Given the description of an element on the screen output the (x, y) to click on. 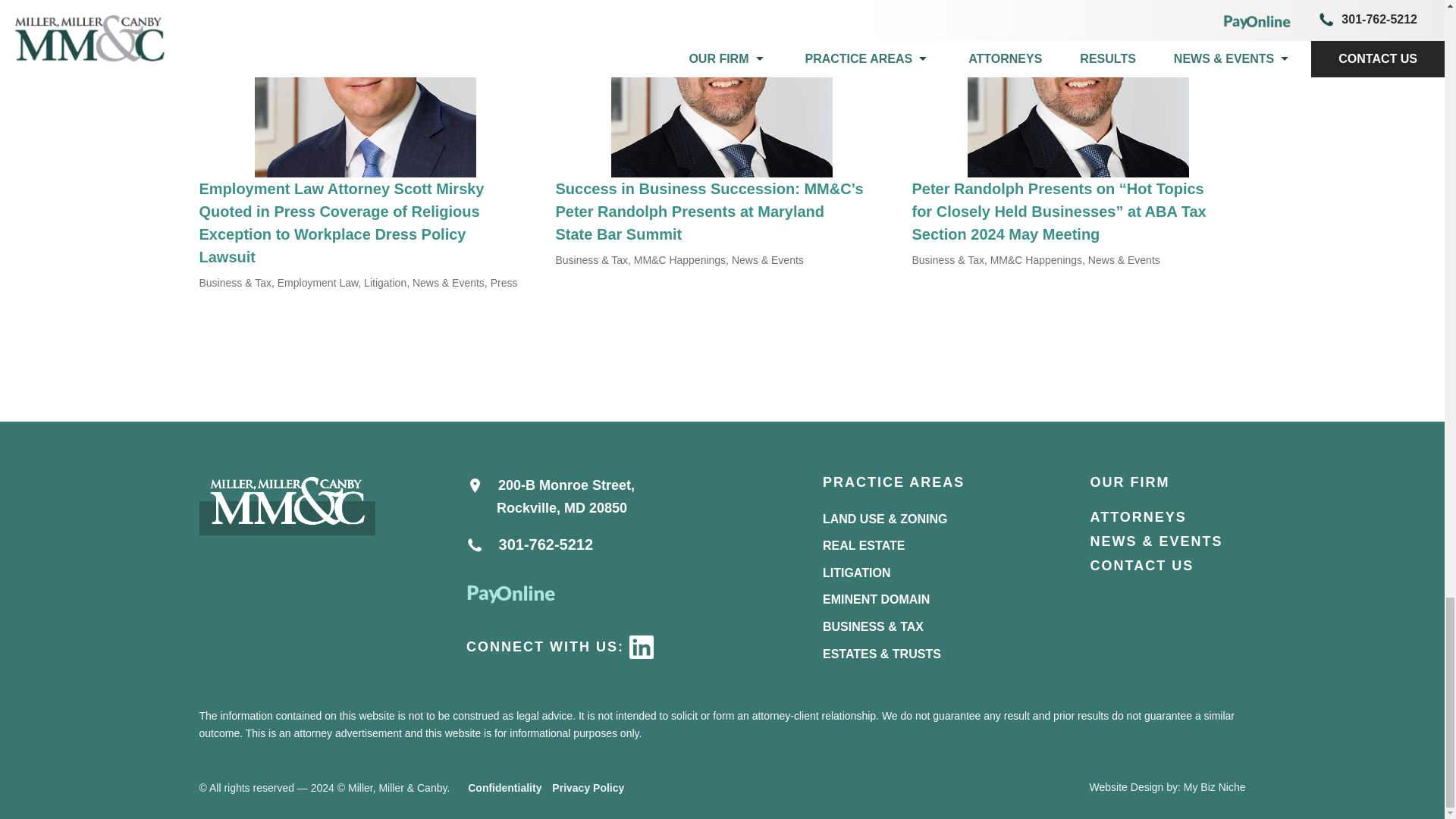
Miller Miller Canby (286, 505)
Miller Miller Canby (286, 503)
